Given the description of an element on the screen output the (x, y) to click on. 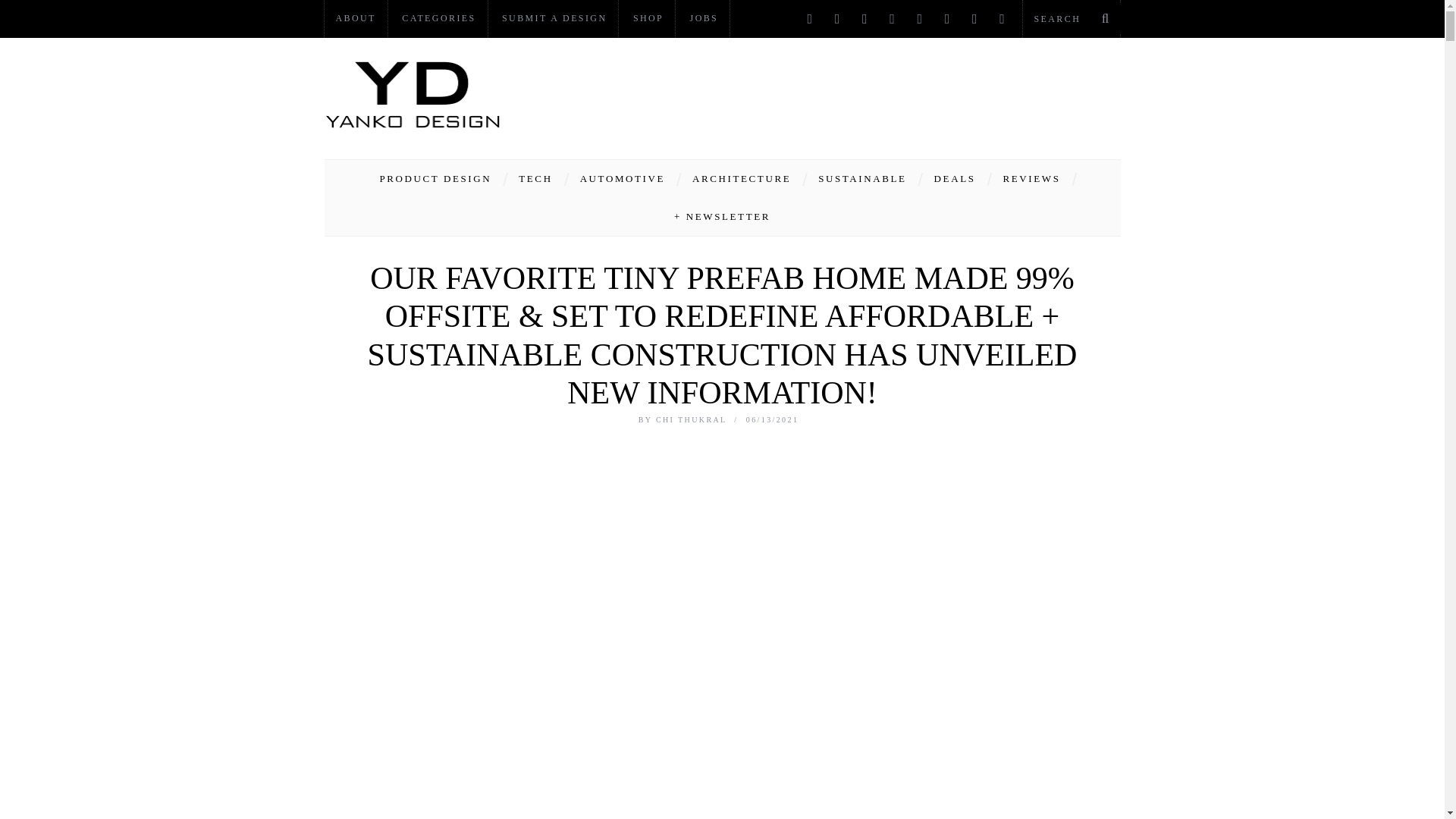
Search (1071, 18)
SHOP (648, 18)
CATEGORIES (438, 18)
SUBMIT A DESIGN (553, 18)
JOBS (704, 18)
ABOUT (355, 18)
